Given the description of an element on the screen output the (x, y) to click on. 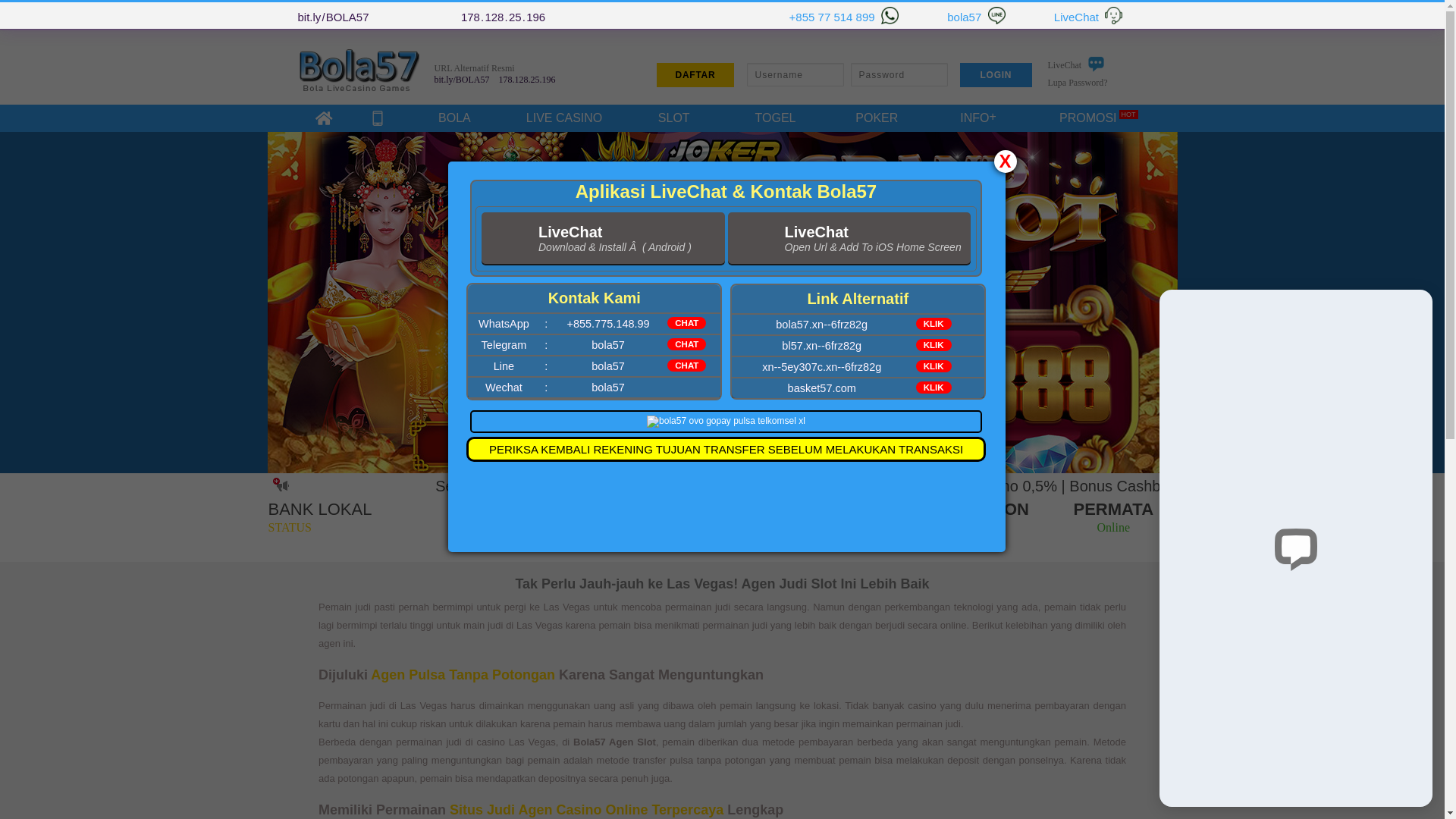
bit.ly / BOLA57 Element type: text (461, 79)
TOGEL Element type: text (775, 117)
bit.ly / BOLA57 Element type: text (332, 16)
LIVE CASINO Element type: text (564, 117)
X Element type: text (1004, 160)
xn--5ey307c.xn--6frz82g Element type: text (821, 366)
POKER Element type: text (876, 117)
LiveChat
Open Url & Add To iOS Home Screen Element type: text (849, 238)
PROMOSI Element type: text (1088, 117)
178 . 128 . 25 . 196 Element type: text (526, 79)
LiveChat Element type: text (1076, 68)
Agen Pulsa Tanpa Potongan Element type: text (462, 674)
LOGIN Element type: text (996, 74)
bl57.xn--6frz82g Element type: text (821, 345)
BOLA Element type: text (454, 117)
Situs Judi Agen Casino Online Terpercaya Element type: text (586, 809)
178 . 128 . 25 . 196 Element type: text (503, 16)
bola57.xn--6frz82g Element type: text (821, 324)
SLOT Element type: text (673, 117)
INFO
+ Element type: text (978, 117)
basket57.com Element type: text (821, 388)
DAFTAR Element type: text (695, 74)
Lupa Password? Element type: text (1077, 82)
